Given the description of an element on the screen output the (x, y) to click on. 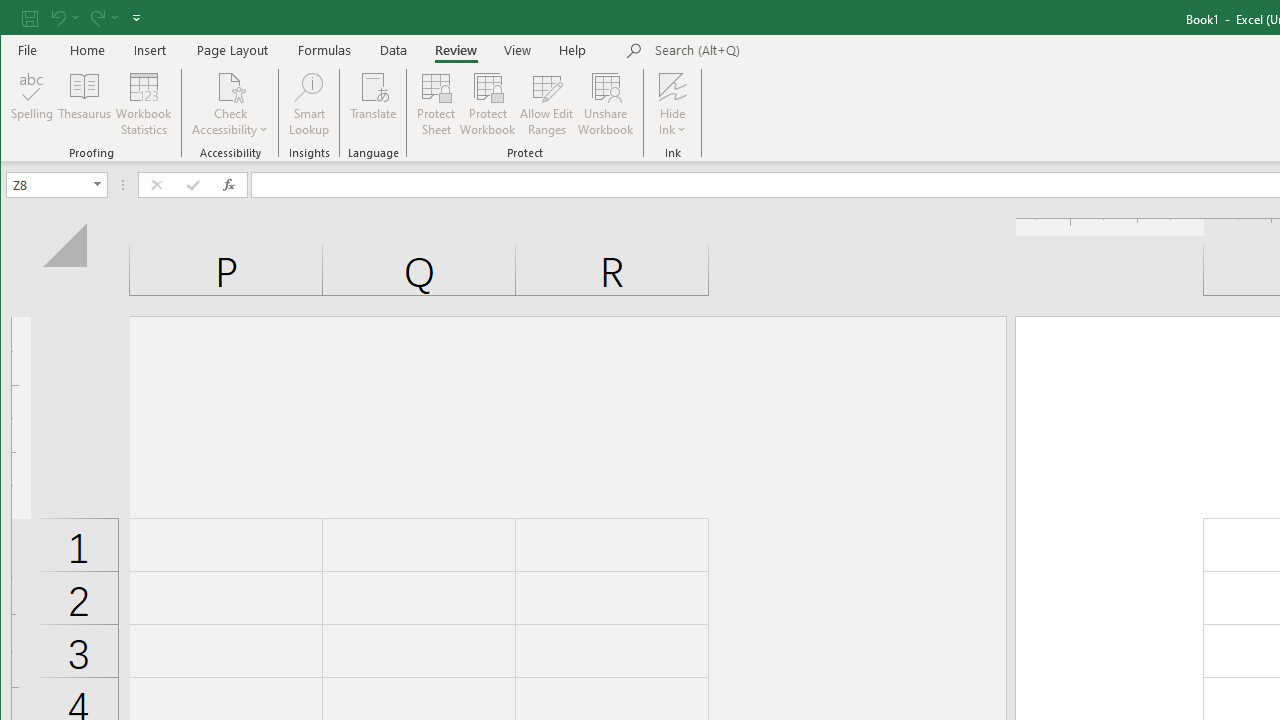
Hide Ink (672, 86)
Protect Sheet... (436, 104)
Smart Lookup (308, 104)
Translate (373, 104)
